Given the description of an element on the screen output the (x, y) to click on. 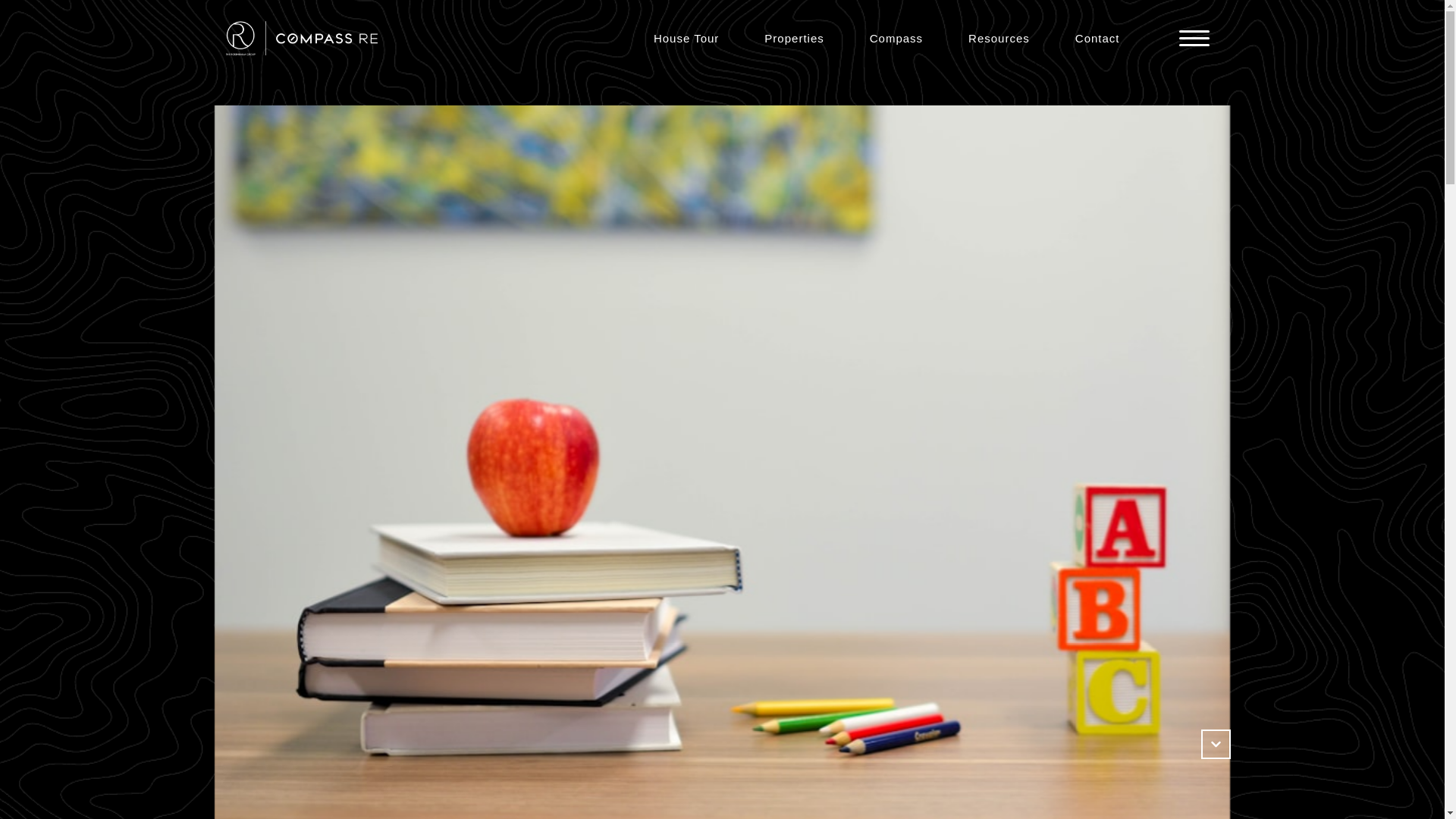
Contact (1097, 38)
Resources (998, 38)
Compass (895, 38)
House Tour (685, 38)
Properties (793, 38)
